Given the description of an element on the screen output the (x, y) to click on. 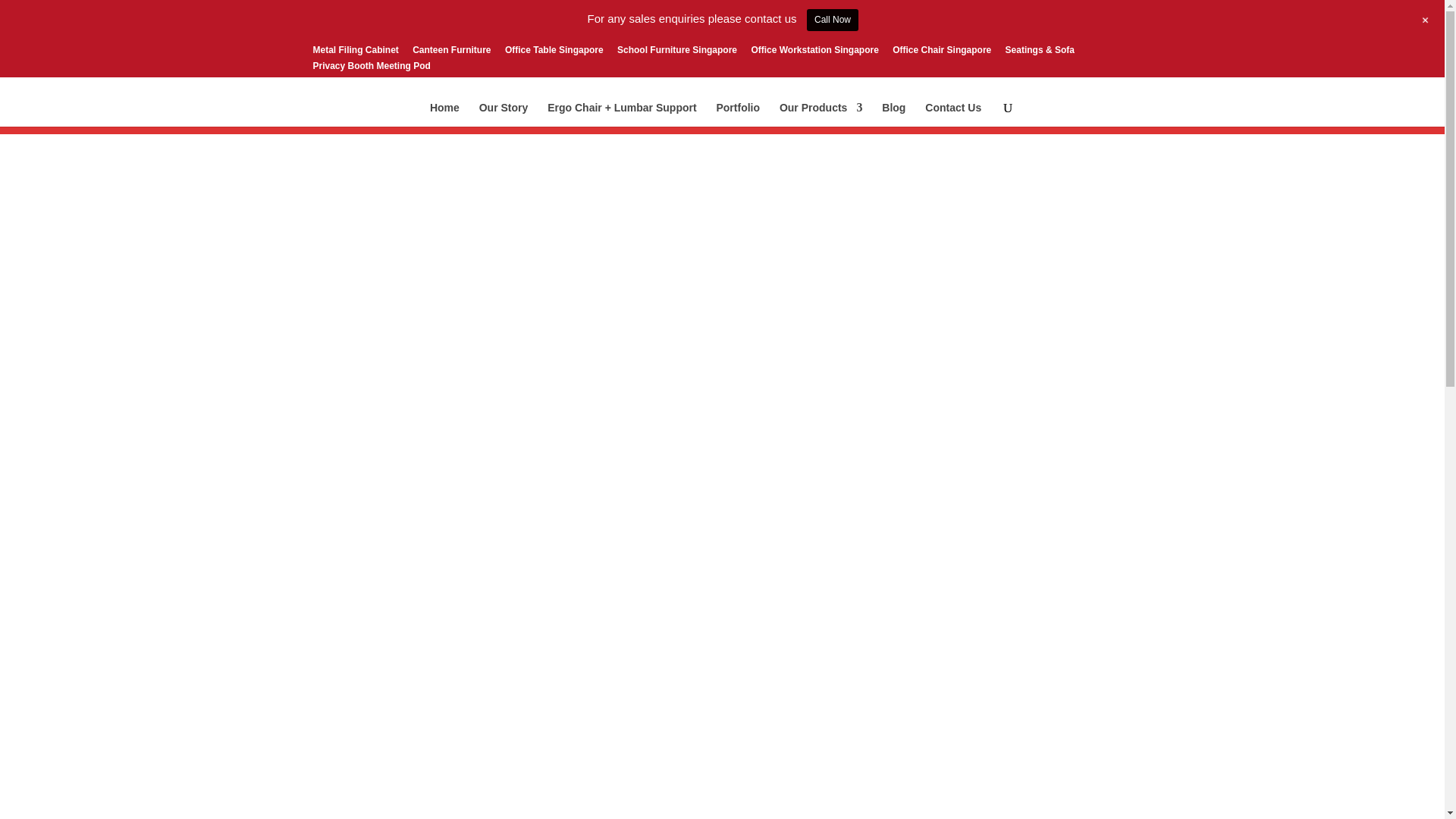
Portfolio (738, 114)
Home (444, 114)
Office Workstation Singapore (814, 53)
Canteen Furniture (451, 53)
Privacy Booth Meeting Pod (371, 68)
Office Chair Singapore (941, 53)
Office Table Singapore (554, 53)
Our Story (503, 114)
Our Products (819, 114)
School Furniture Singapore (676, 53)
Contact Us (952, 114)
Metal Filing Cabinet (355, 53)
Blog (893, 114)
Call Now (832, 20)
